Given the description of an element on the screen output the (x, y) to click on. 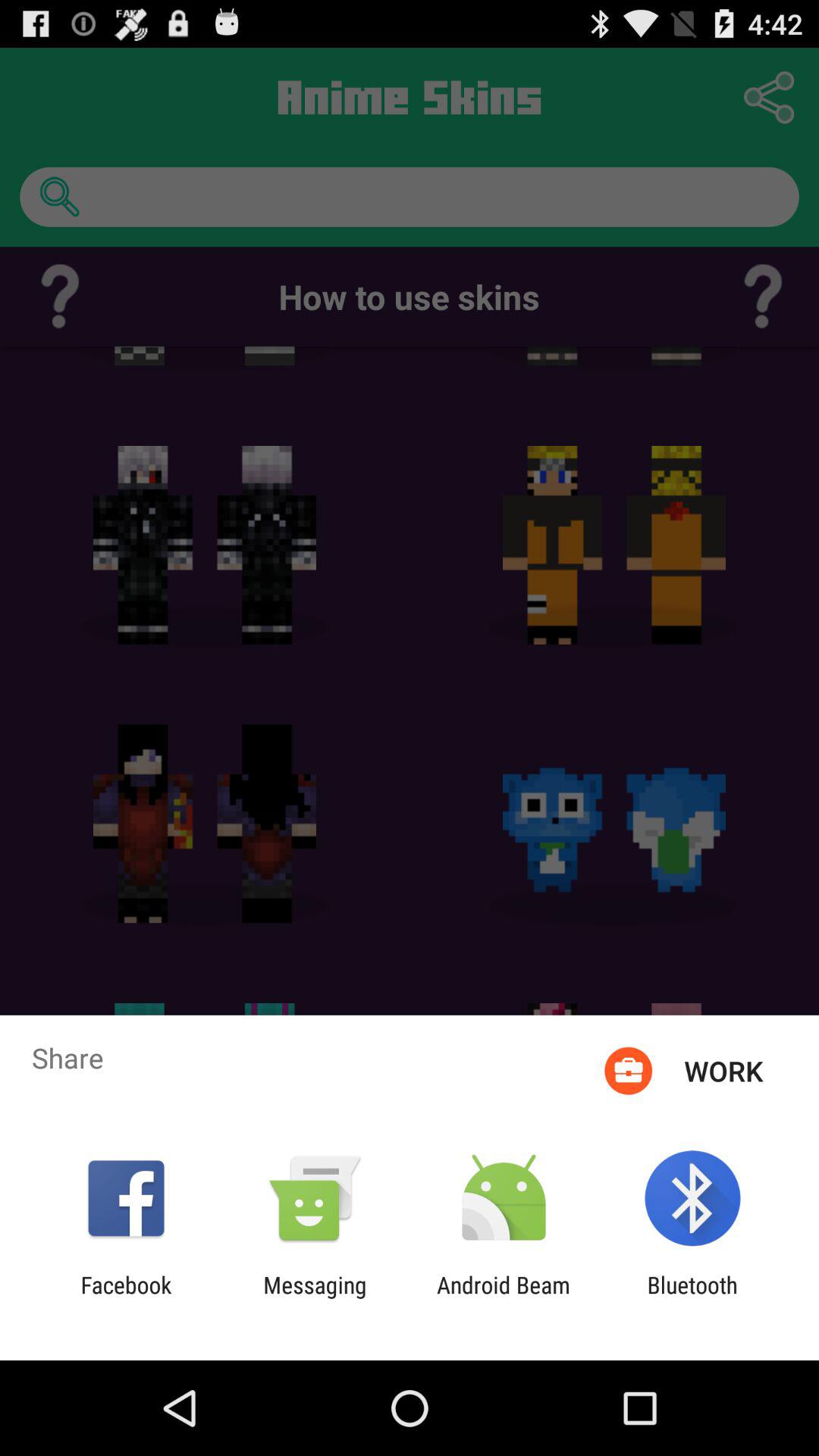
choose icon next to the android beam icon (314, 1298)
